Given the description of an element on the screen output the (x, y) to click on. 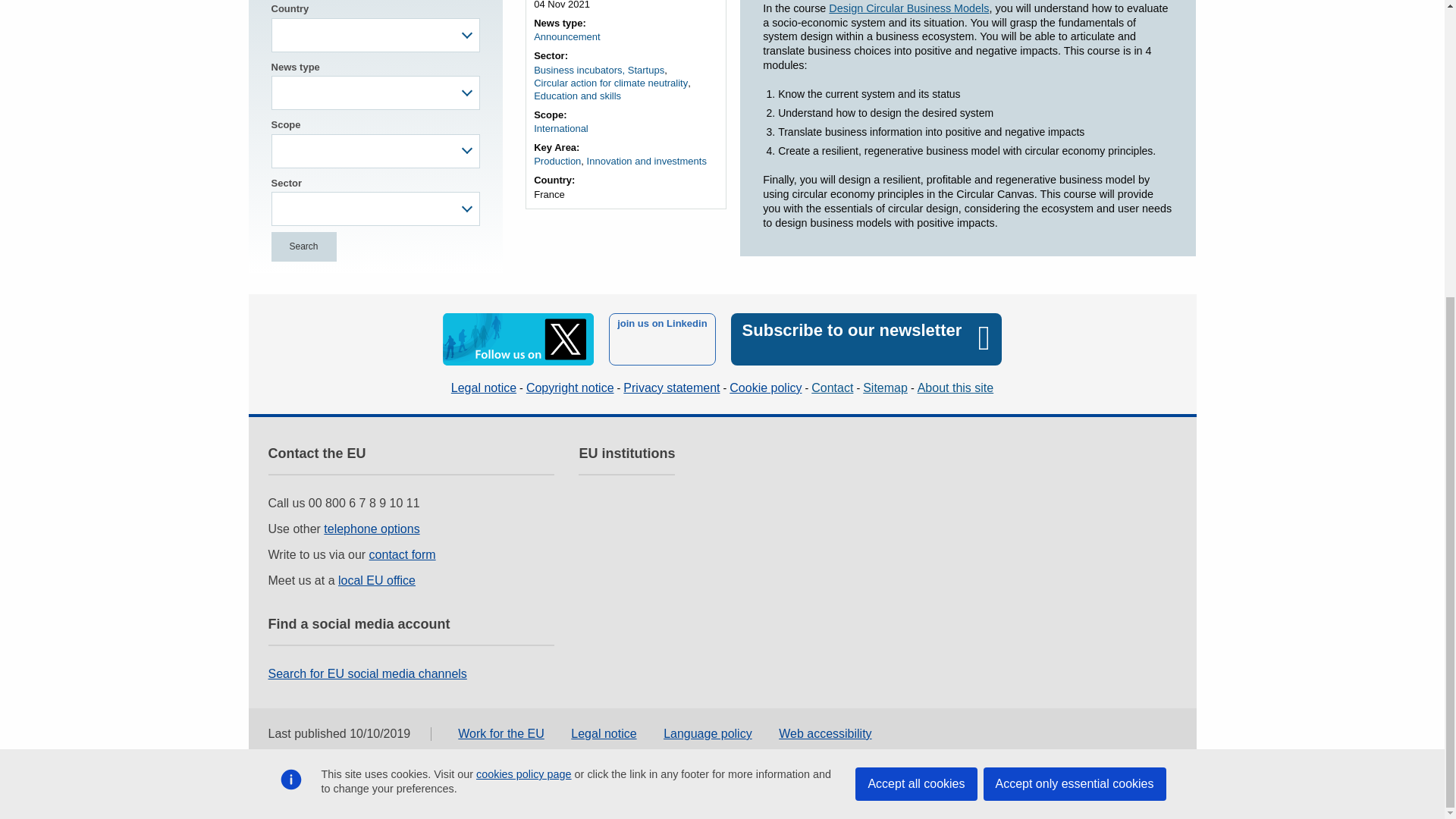
Accept all cookies (916, 326)
cookies policy page (524, 316)
Search (303, 246)
Accept only essential cookies (1074, 326)
